Given the description of an element on the screen output the (x, y) to click on. 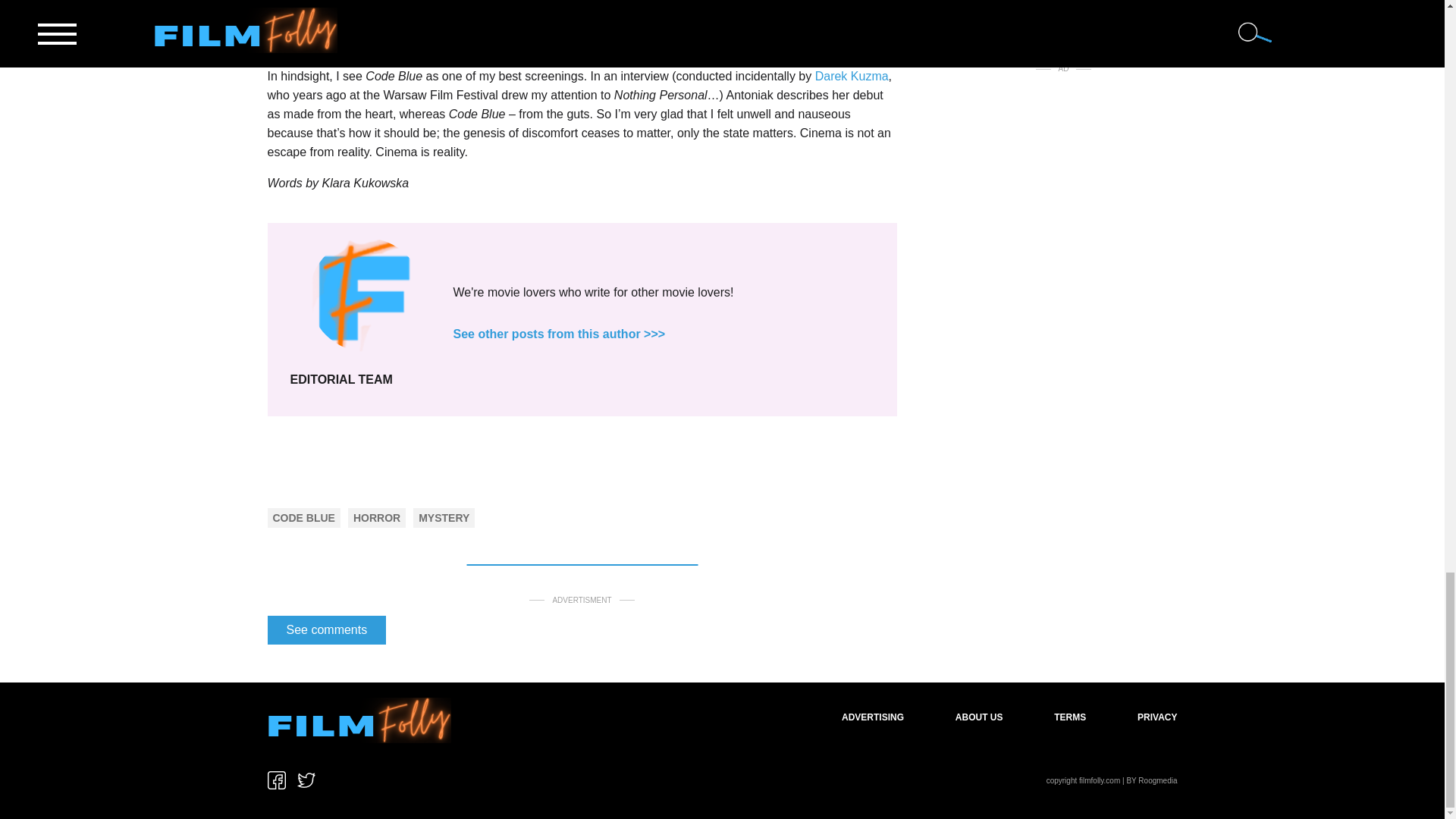
Darek Kuzma (851, 75)
HORROR (376, 517)
See comments (325, 629)
CODE BLUE (303, 517)
ADVERTISING (872, 716)
PRIVACY (1156, 716)
ABOUT US (979, 716)
TERMS (1070, 716)
MYSTERY (443, 517)
